Given the description of an element on the screen output the (x, y) to click on. 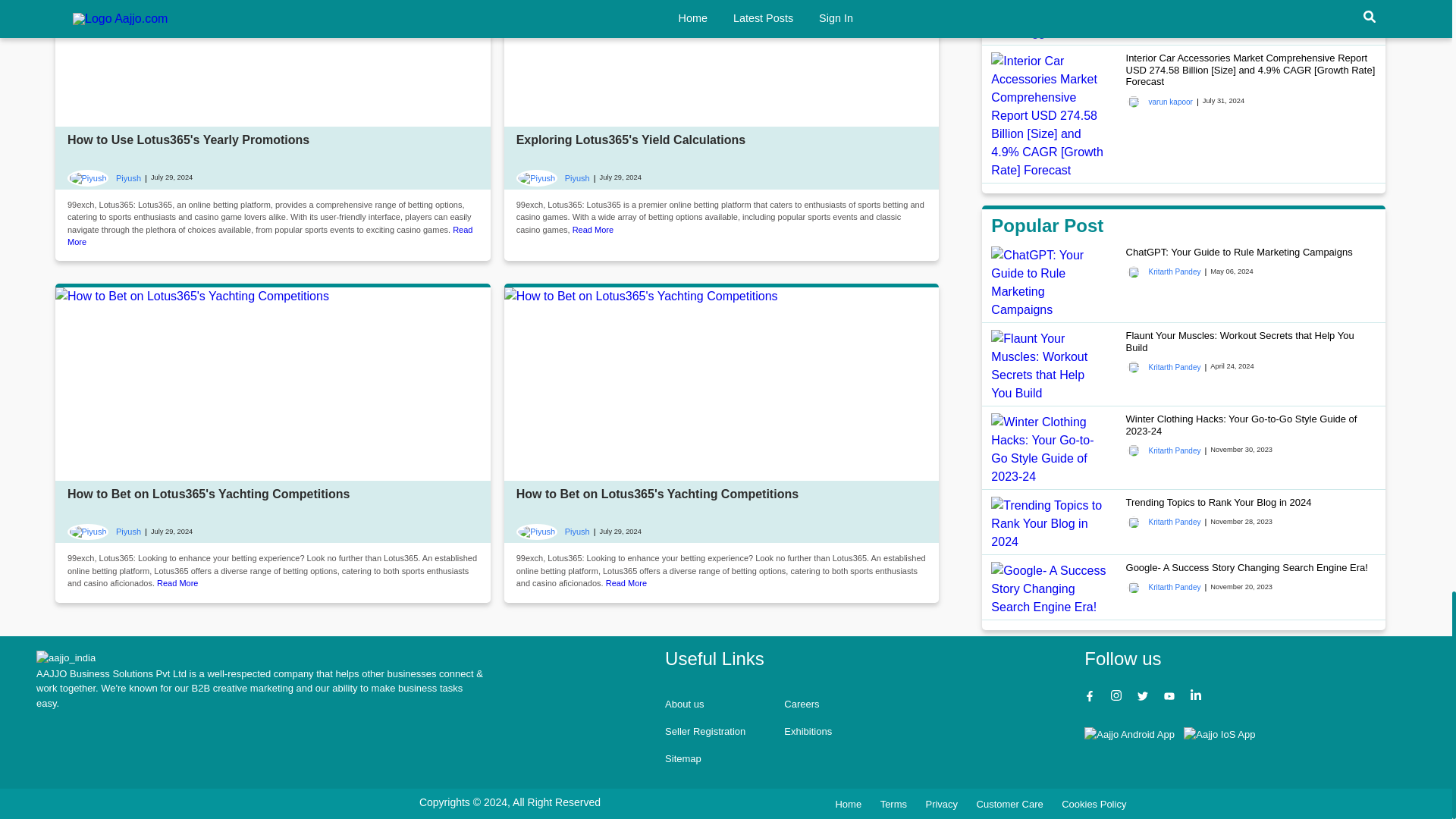
Exhibitions (807, 731)
youtube (1170, 697)
Seller Registration (705, 731)
twitter (1144, 697)
Home (66, 657)
How to Use Lotus365's Yearly Promotions (187, 139)
Read More (268, 236)
Read More (177, 583)
Sitemap (683, 758)
How to Bet on Lotus365's Yachting Competitions (207, 493)
Careers (801, 704)
Linkedin (1198, 697)
About us (684, 704)
Read More (592, 229)
facebook (1091, 697)
